Given the description of an element on the screen output the (x, y) to click on. 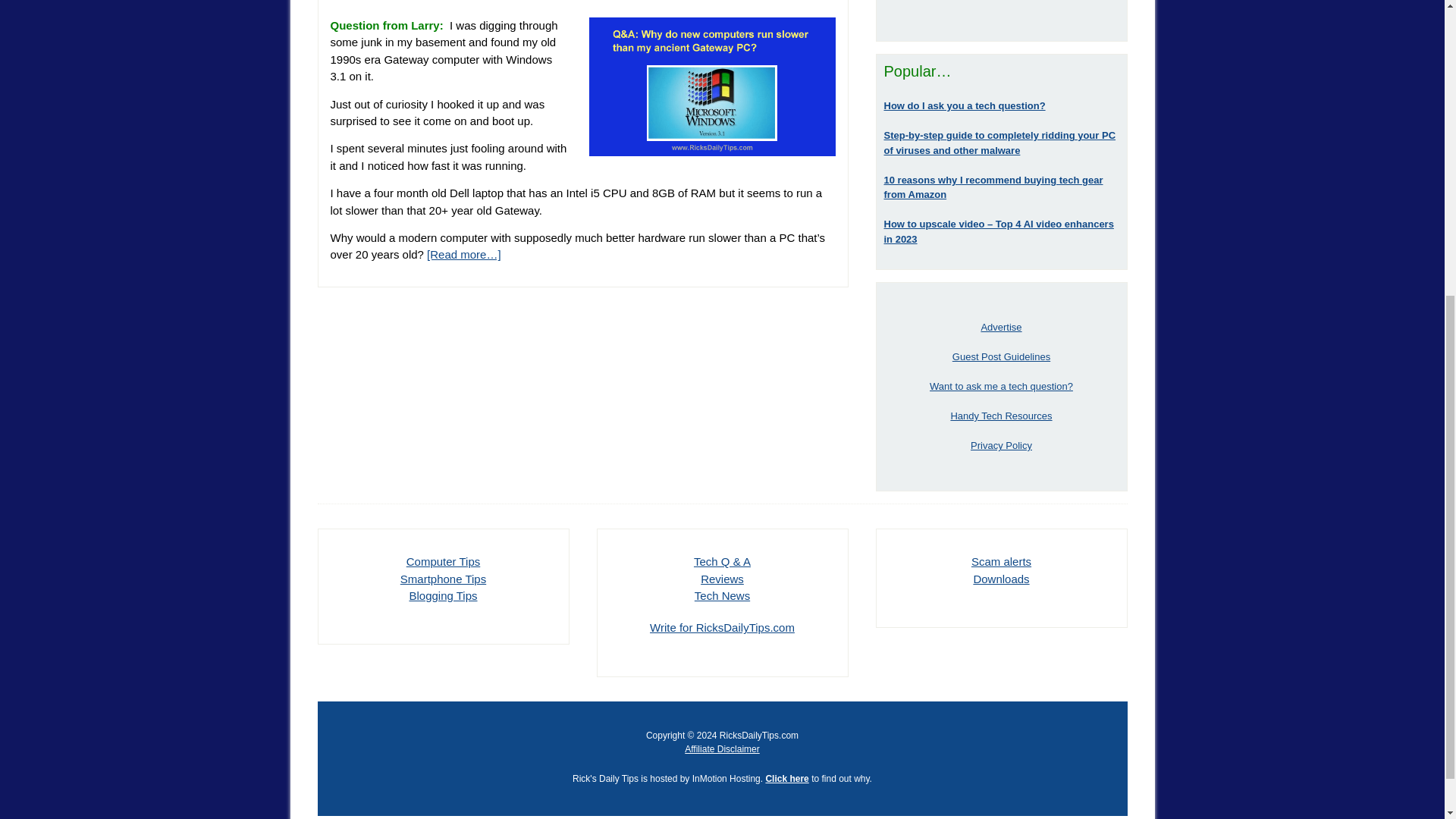
Write for RicksDailyTips.com (721, 626)
Scam alerts (1000, 561)
Want to ask me a tech question? (1001, 386)
Guest Post Guidelines (1000, 356)
How do I ask you a tech question? (964, 105)
Reviews (722, 578)
Privacy Policy (1001, 445)
Blogging Tips (443, 594)
Advertise (1000, 326)
